Given the description of an element on the screen output the (x, y) to click on. 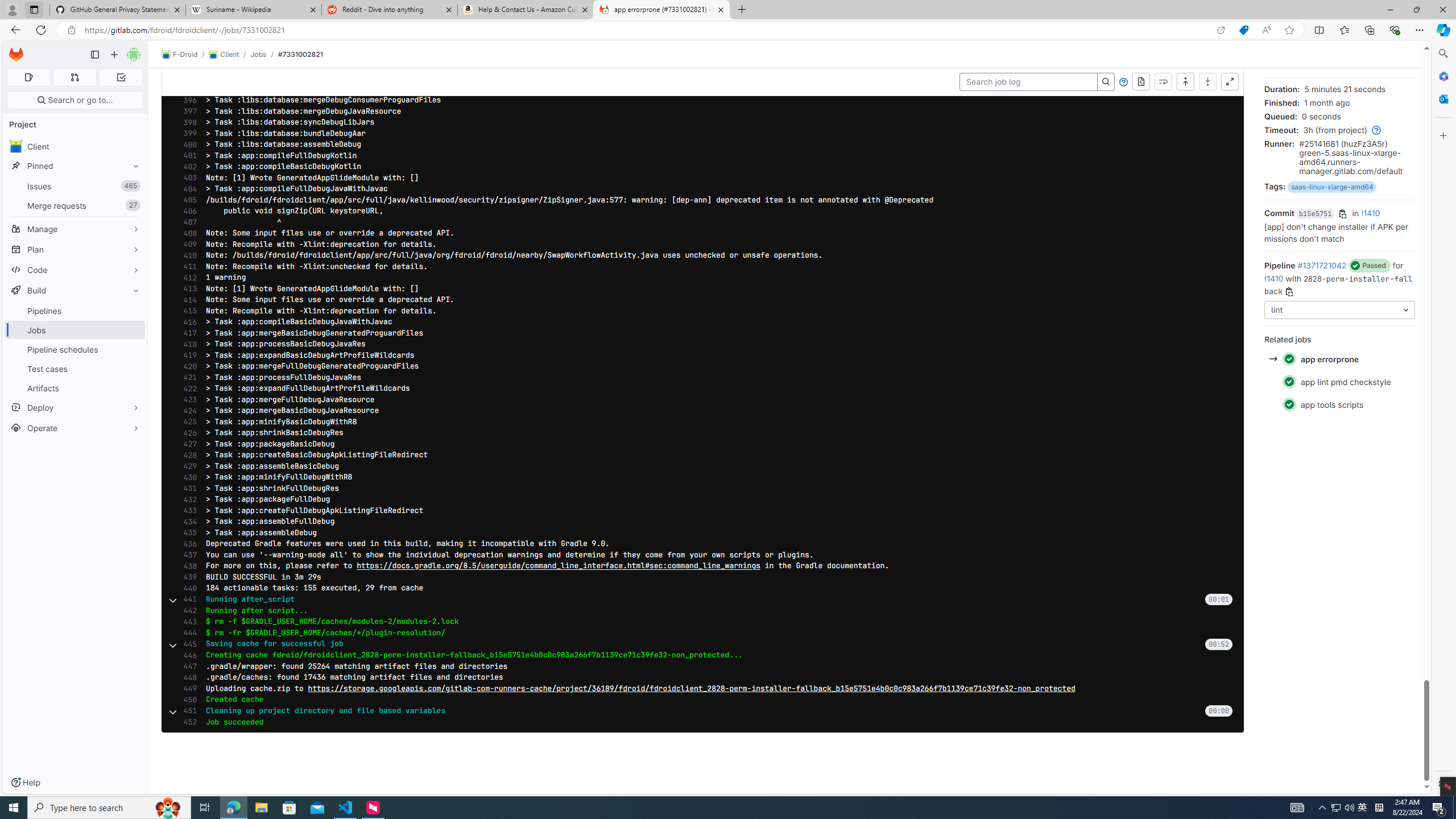
422 (186, 388)
Unpin Merge requests (132, 205)
Code (74, 269)
Scroll to bottom (1207, 81)
427 (186, 443)
442 (186, 610)
Show full screen (1230, 81)
Deploy (74, 407)
445 Saving cache for successful job 00:52 (702, 644)
Operate (74, 427)
396 (186, 100)
Pin Test cases (132, 368)
Show complete raw (1141, 81)
